Given the description of an element on the screen output the (x, y) to click on. 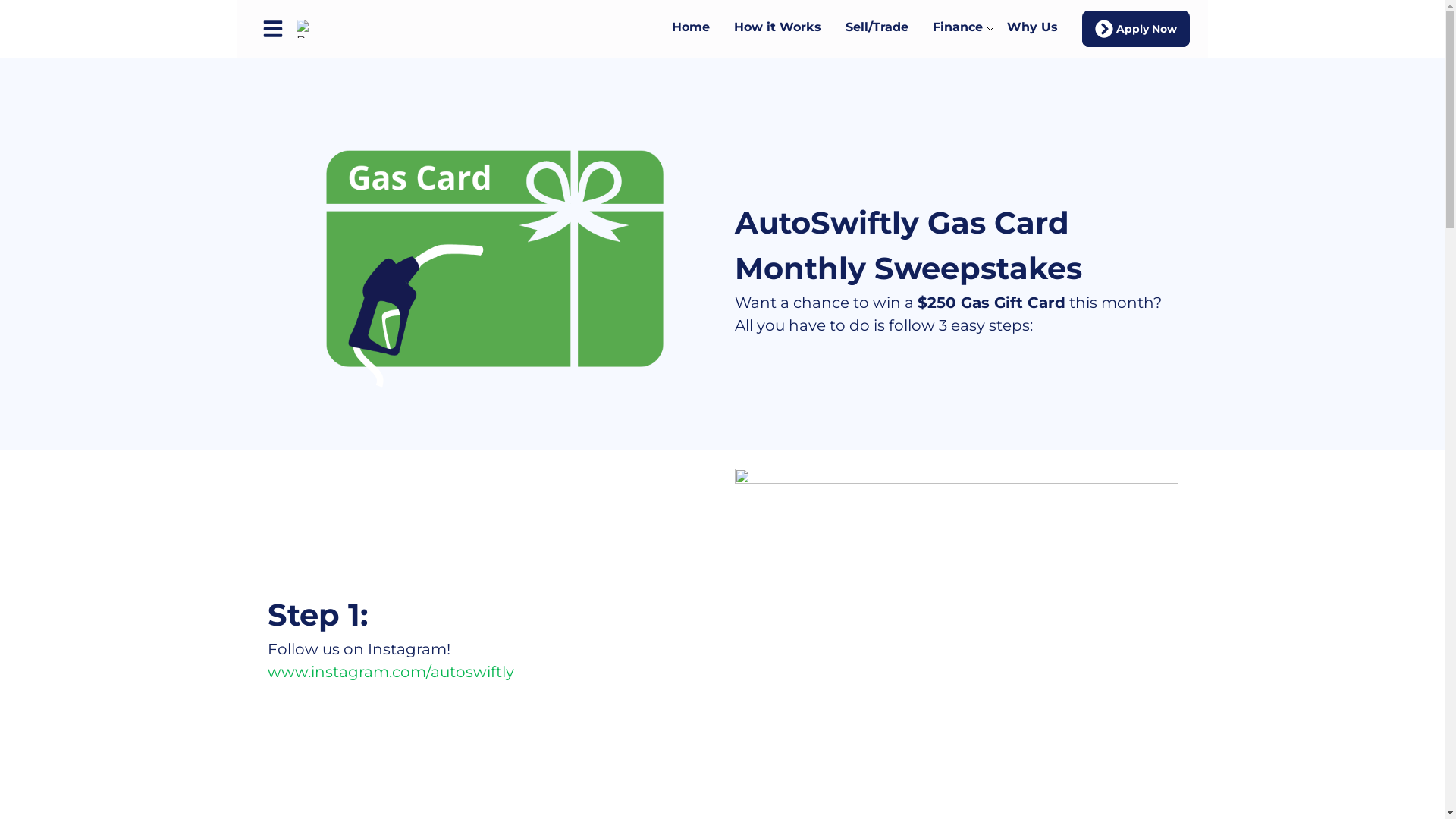
How it Works (777, 28)
Apply Now (1135, 28)
Why Us (1032, 28)
Finance (957, 28)
Home (690, 28)
